Given the description of an element on the screen output the (x, y) to click on. 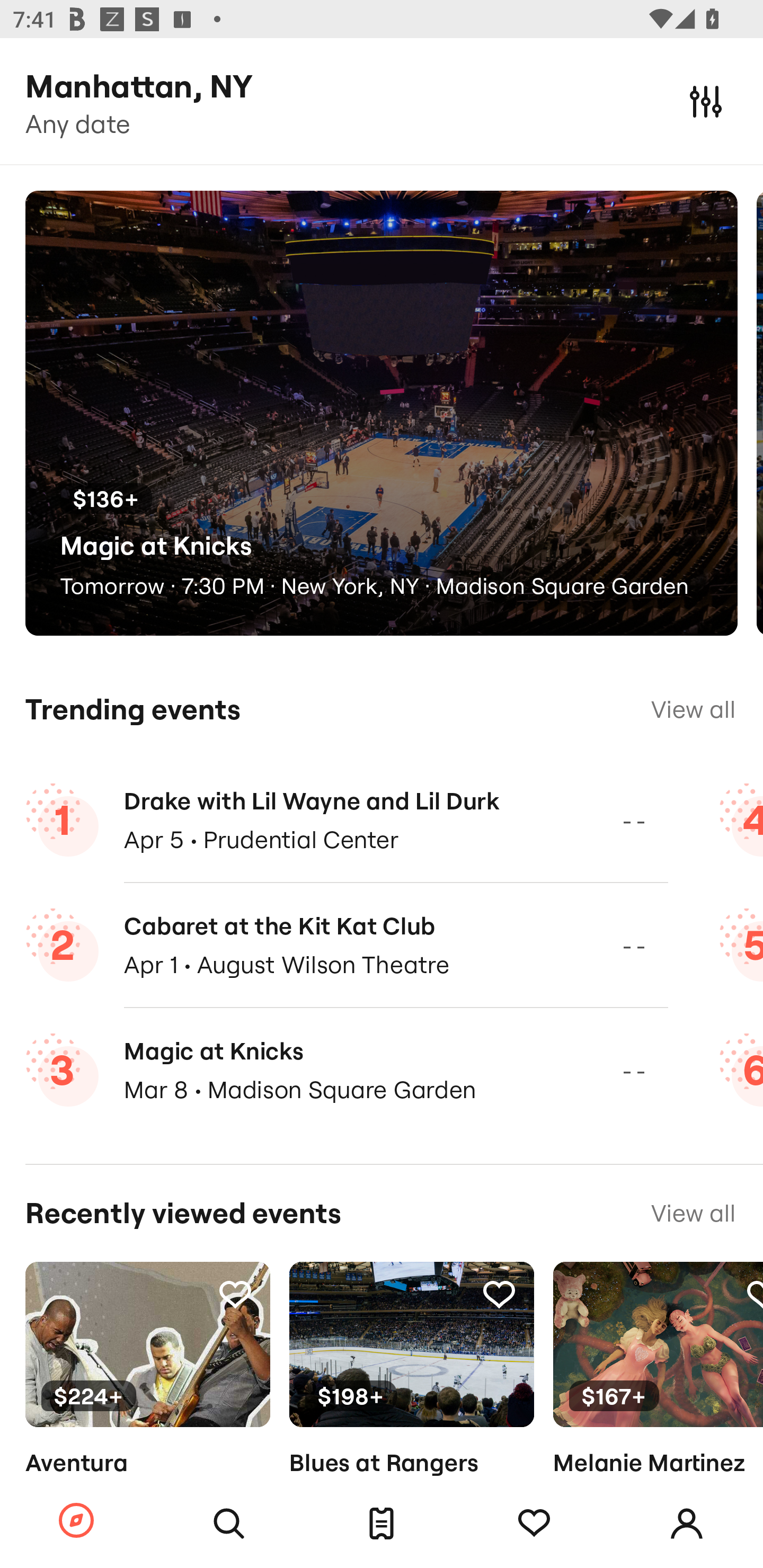
Filters (705, 100)
View all (693, 709)
View all (693, 1213)
Tracking $224+ Aventura Thu, May 30, 8 PM (147, 1399)
Tracking $198+ Blues at Rangers Sat, Mar 9, 7 PM (411, 1399)
Tracking $167+ Melanie Martinez Tue, May 28, 7 PM (658, 1399)
Tracking (234, 1293)
Tracking (498, 1293)
Browse (76, 1521)
Search (228, 1523)
Tickets (381, 1523)
Tracking (533, 1523)
Account (686, 1523)
